Given the description of an element on the screen output the (x, y) to click on. 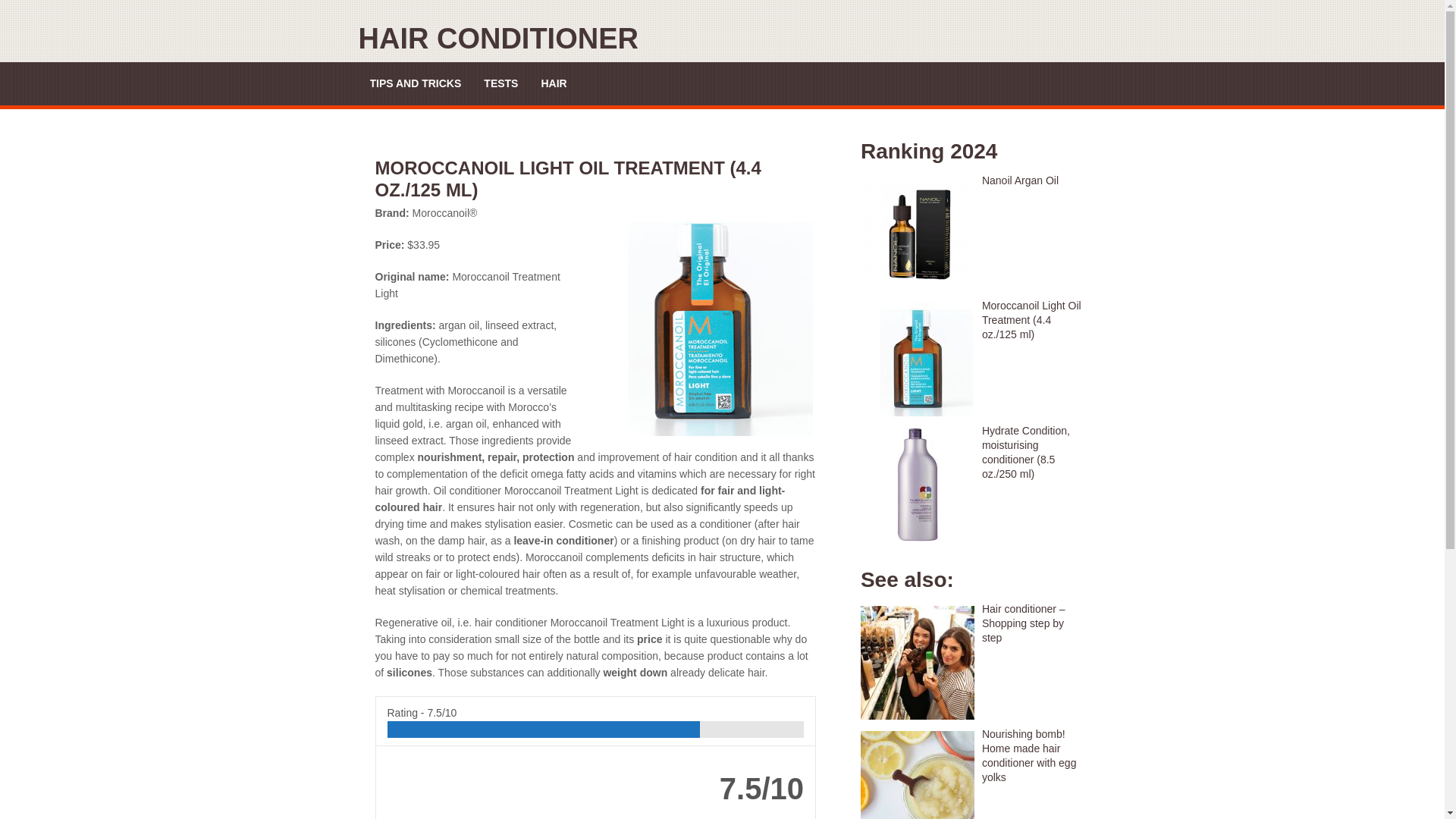
HAIR (553, 83)
Nanoil Argan Oil (973, 180)
TESTS (500, 83)
Nourishing bomb! Home made hair conditioner with egg yolks (973, 755)
TIPS AND TRICKS (415, 83)
Nanoil Argan Oil (973, 180)
HAIR CONDITIONER (497, 38)
